Given the description of an element on the screen output the (x, y) to click on. 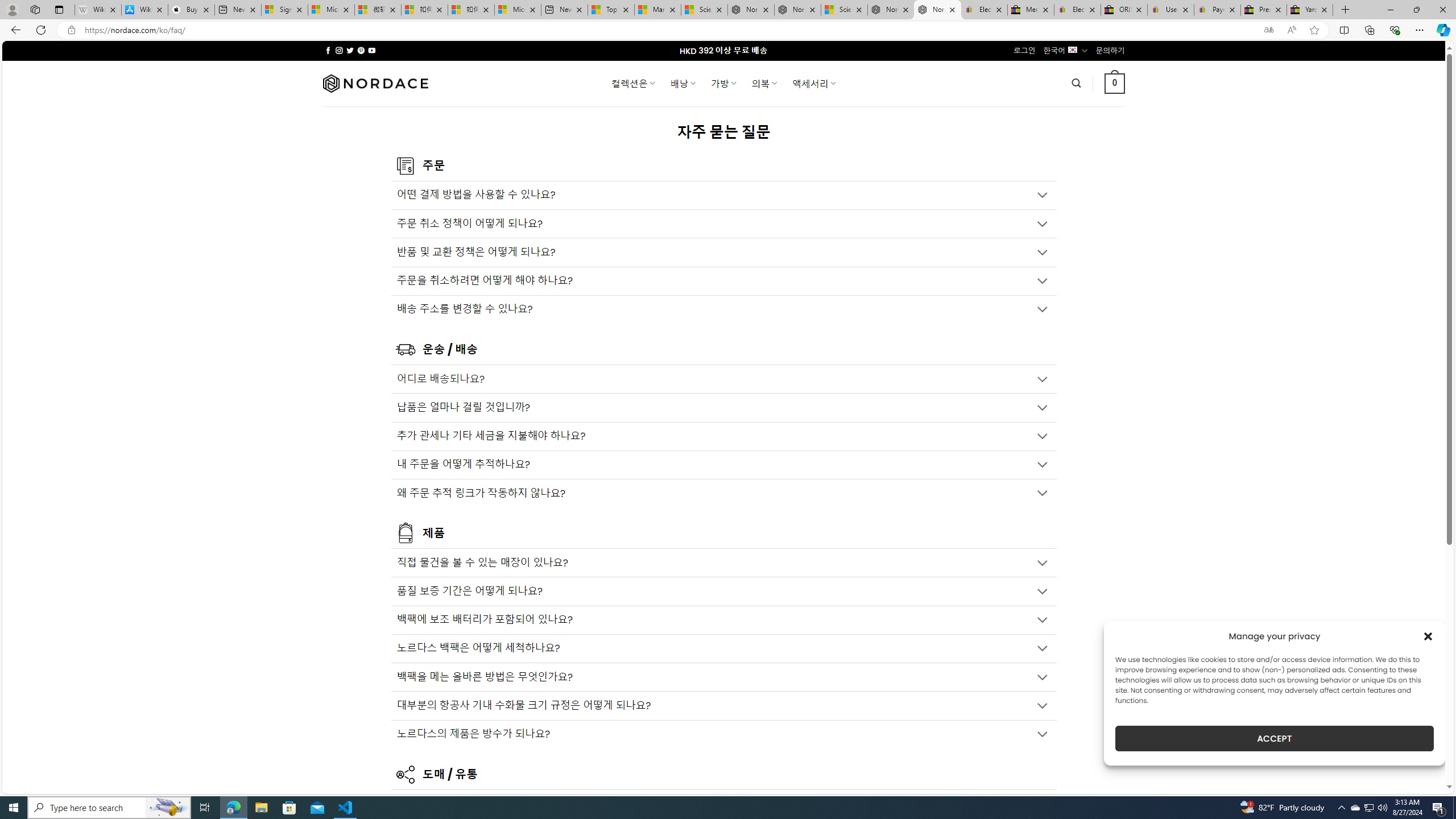
Follow on Pinterest (360, 50)
